Given the description of an element on the screen output the (x, y) to click on. 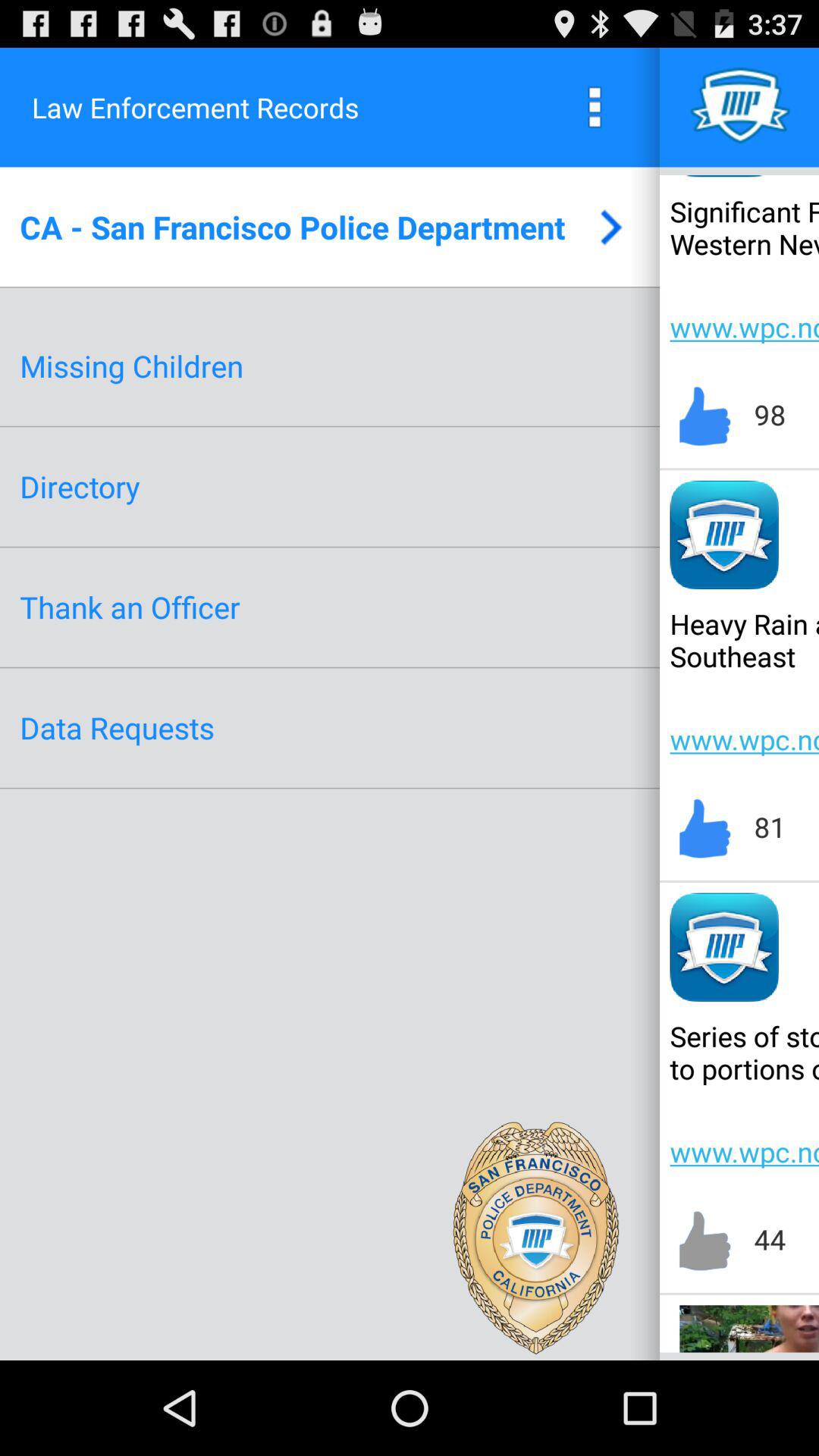
launch app below the missing children (79, 486)
